Given the description of an element on the screen output the (x, y) to click on. 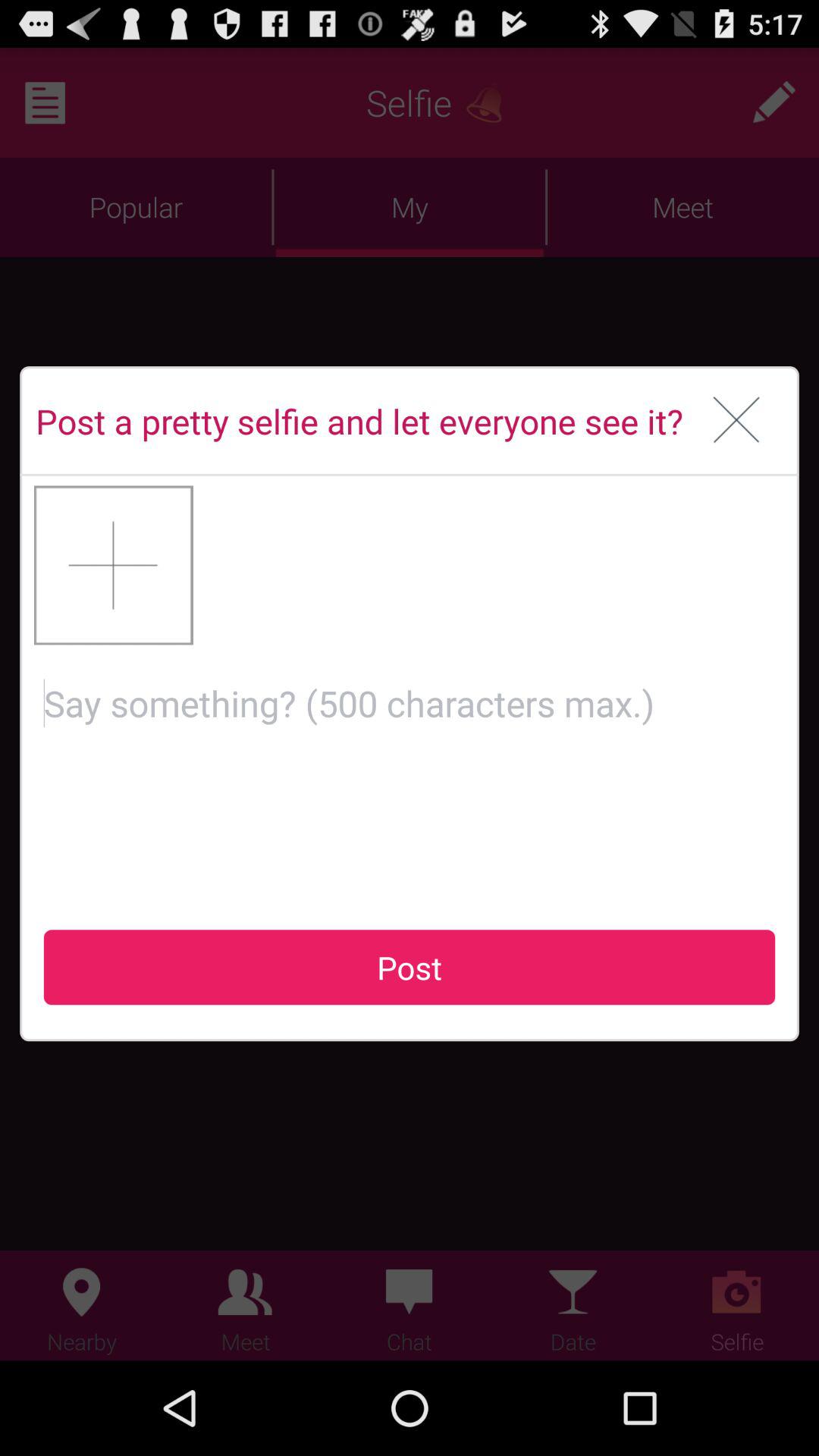
add button (113, 564)
